Given the description of an element on the screen output the (x, y) to click on. 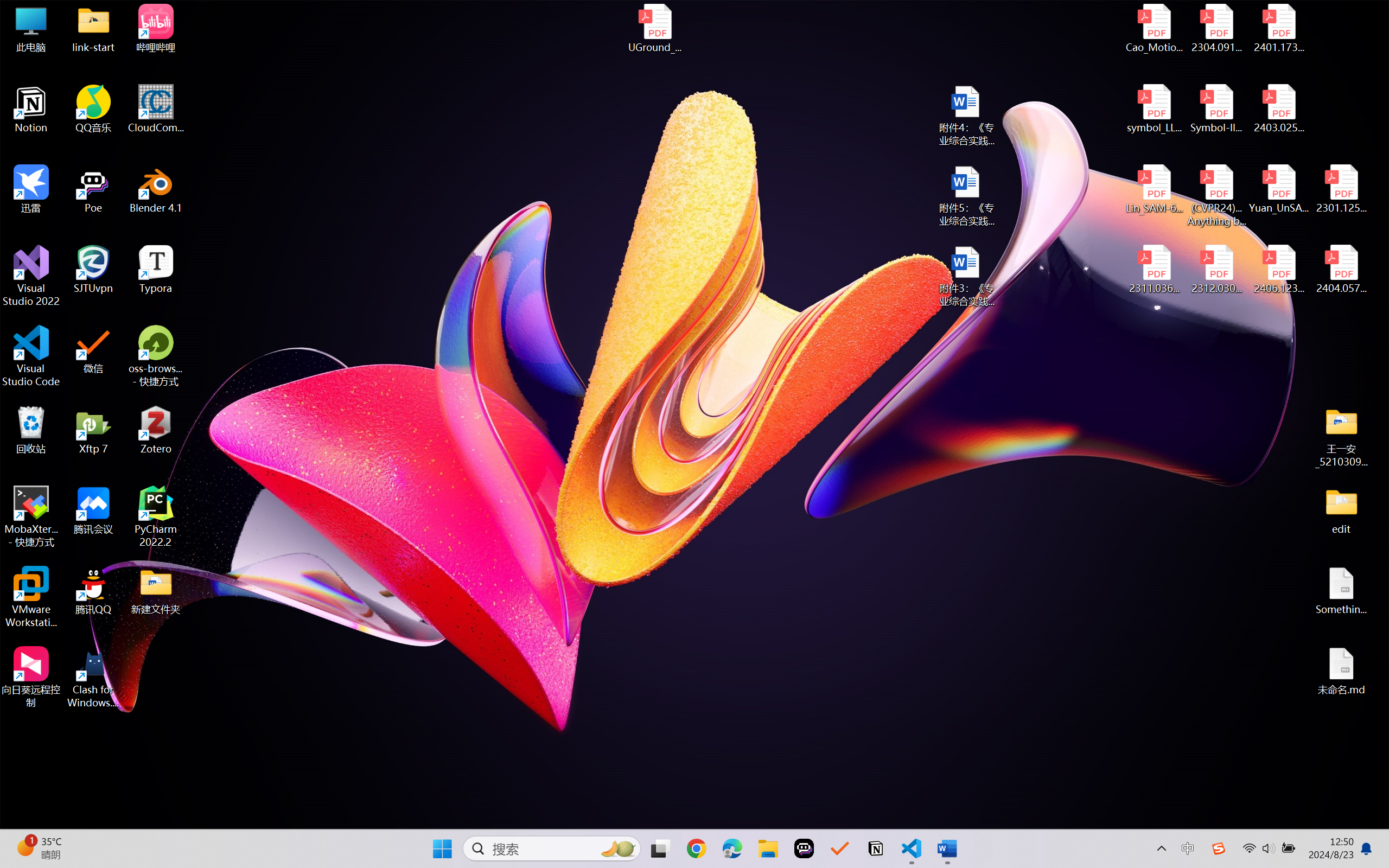
Something.md (1340, 591)
VMware Workstation Pro (31, 597)
CloudCompare (156, 109)
